Given the description of an element on the screen output the (x, y) to click on. 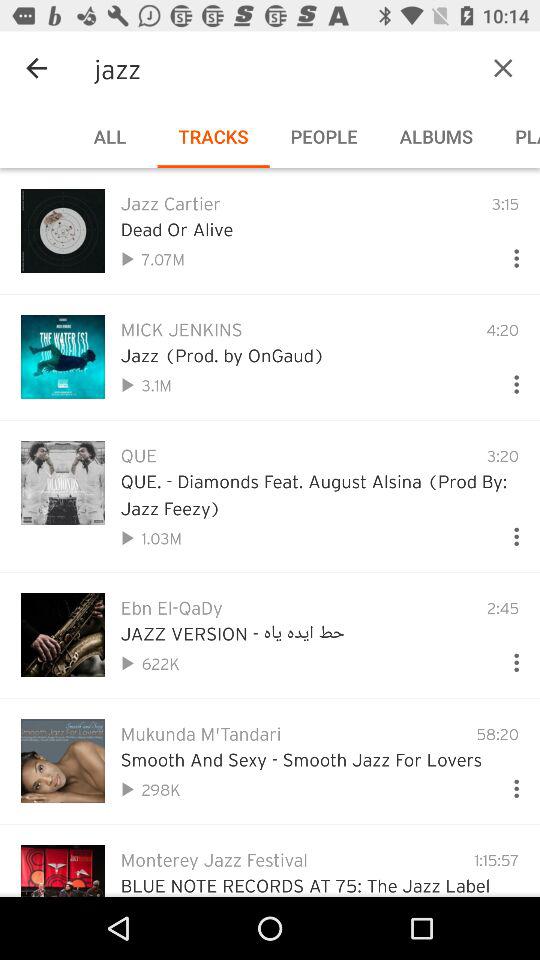
more options (508, 784)
